Given the description of an element on the screen output the (x, y) to click on. 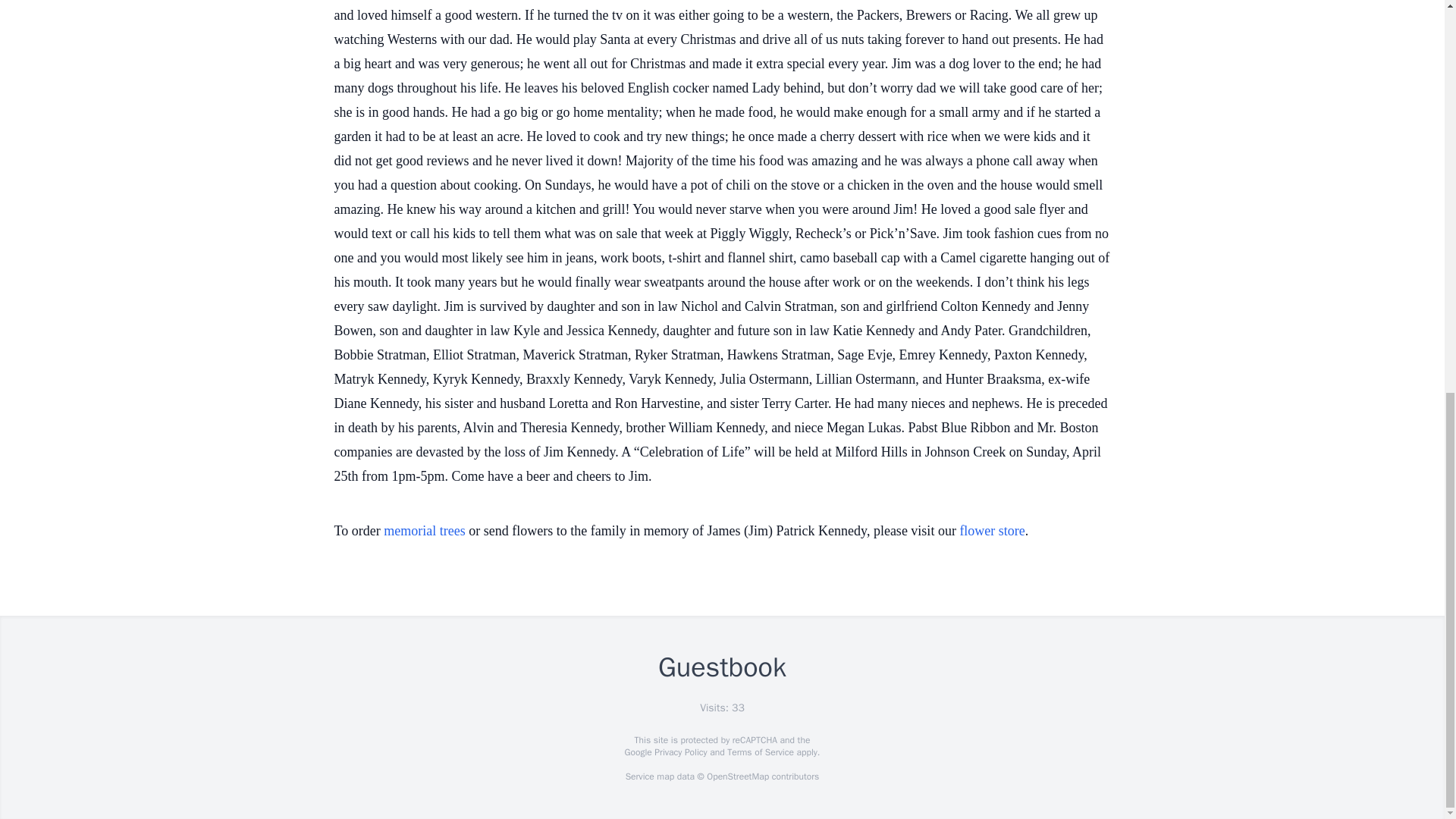
OpenStreetMap (737, 776)
Privacy Policy (679, 752)
flower store (992, 530)
memorial trees (424, 530)
Terms of Service (759, 752)
